Given the description of an element on the screen output the (x, y) to click on. 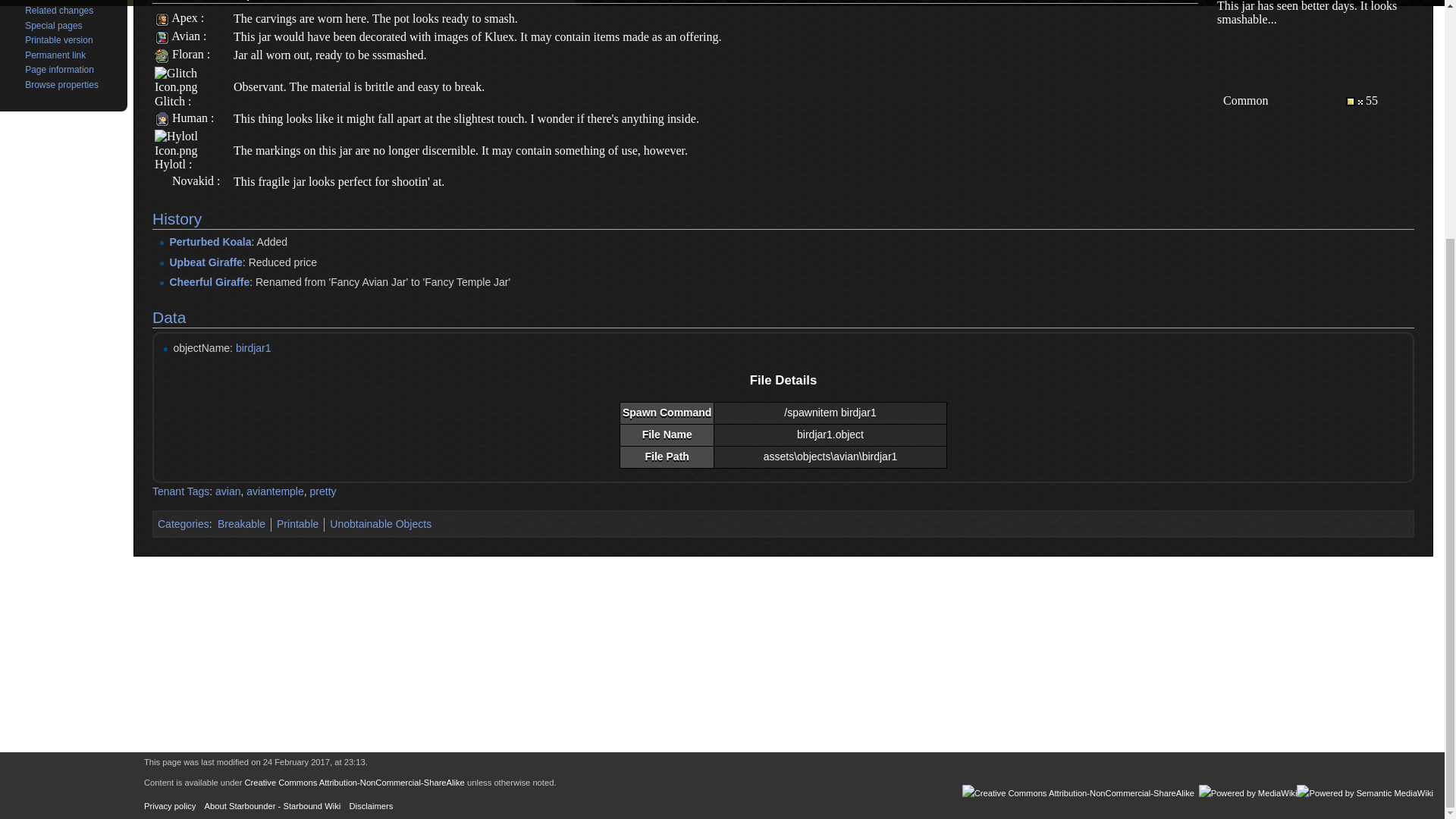
Avian (185, 35)
Avian (161, 35)
Data (169, 316)
birdjar1 (252, 347)
Hylotl (170, 164)
Perturbed Koala (209, 241)
Apex (161, 17)
Avian (185, 35)
Apex (184, 17)
Apex (184, 17)
